Given the description of an element on the screen output the (x, y) to click on. 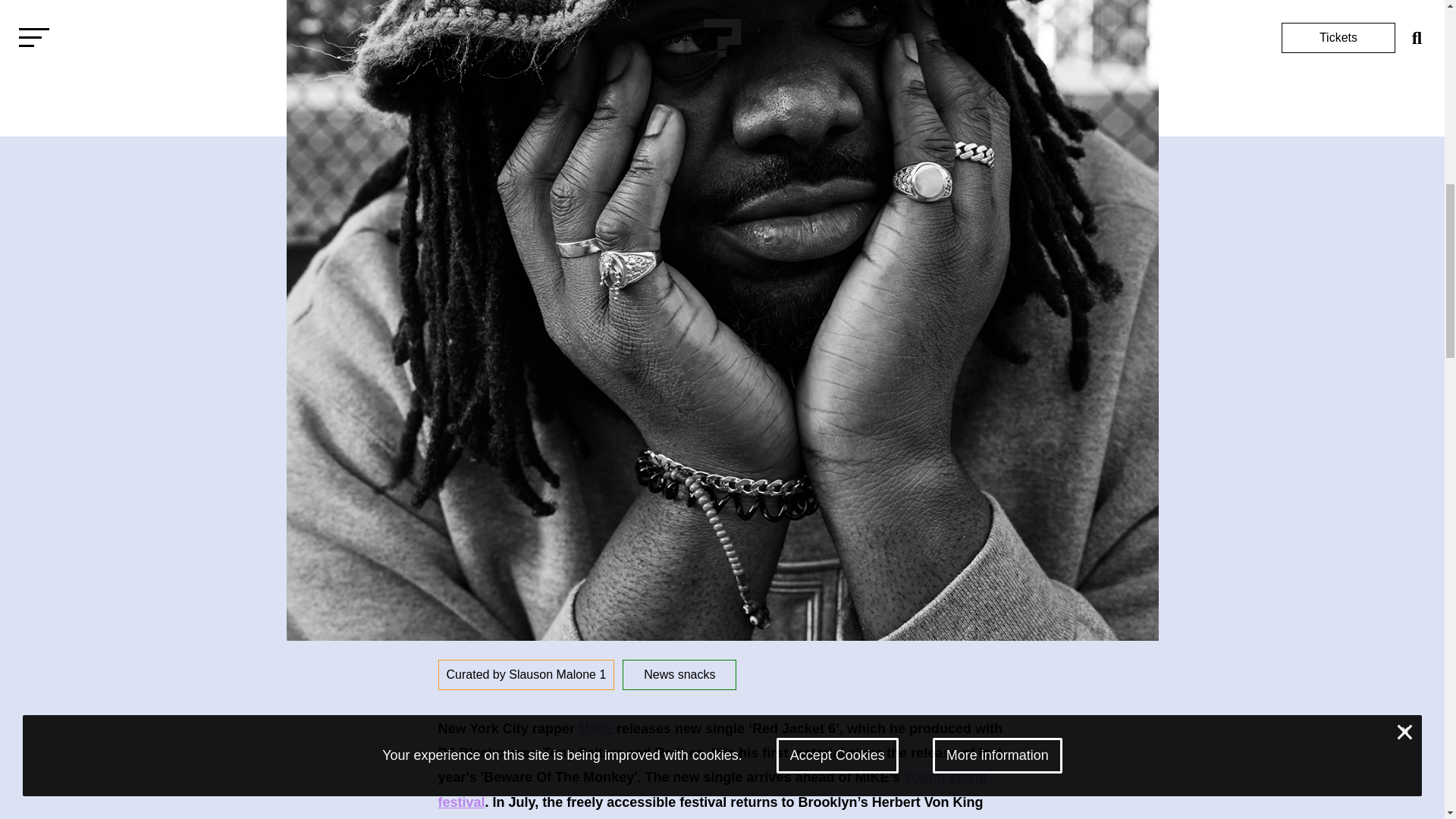
MIKE (595, 727)
Young World festival (712, 789)
News snacks (679, 675)
Curated by Slauson Malone 1 (526, 675)
